Given the description of an element on the screen output the (x, y) to click on. 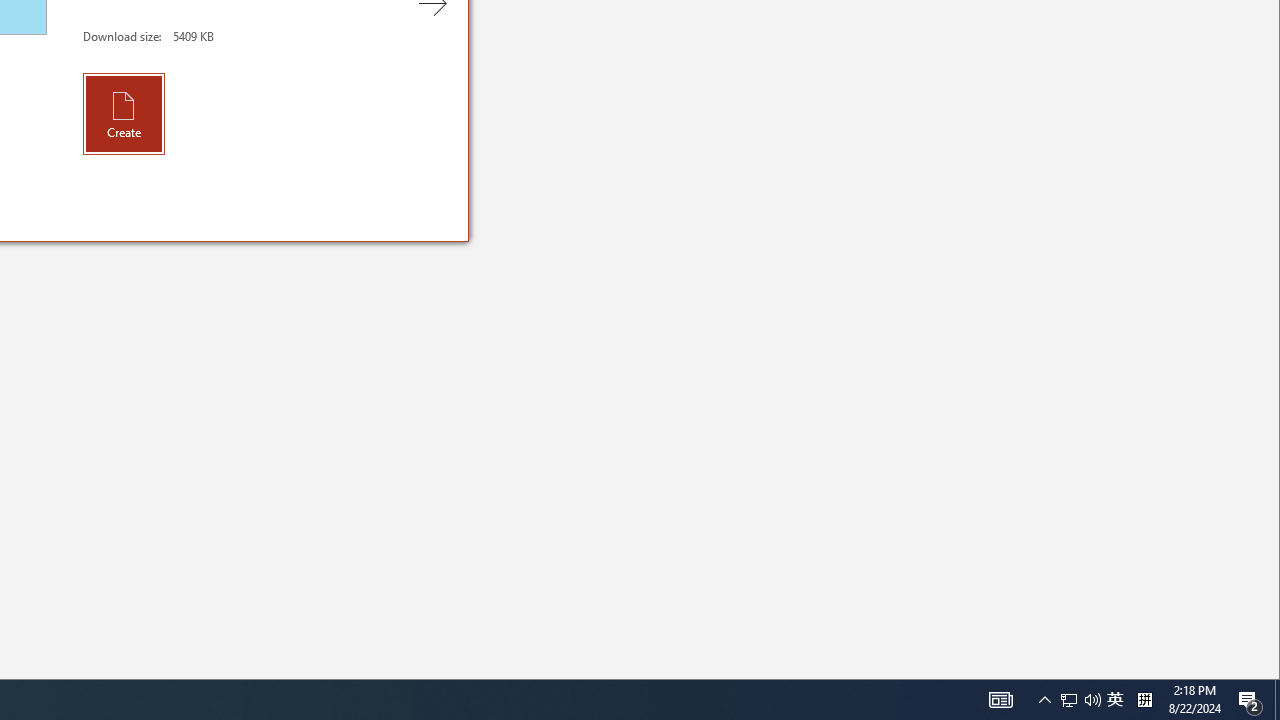
Create (124, 113)
